Given the description of an element on the screen output the (x, y) to click on. 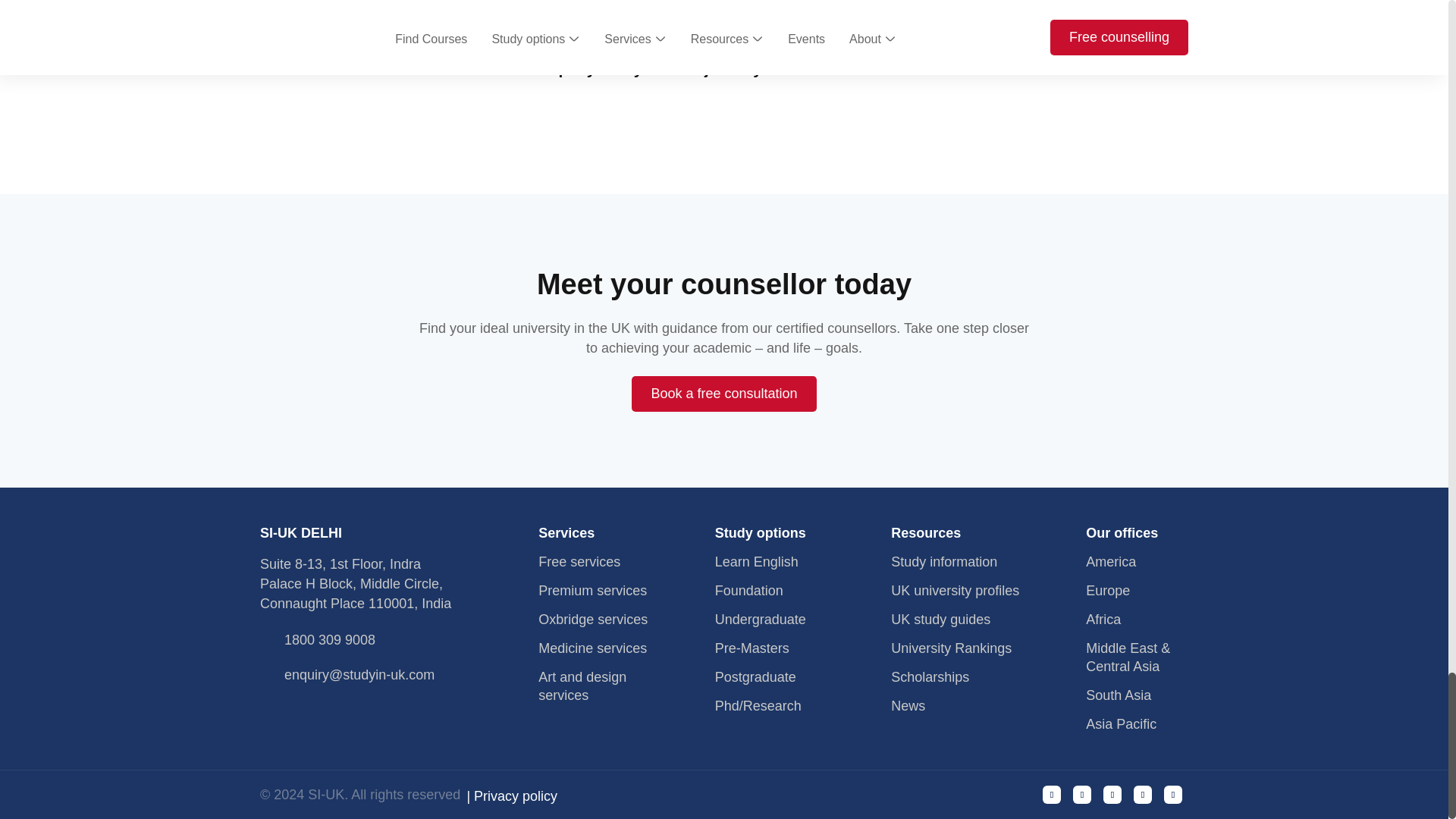
Follow on Youtube (1112, 794)
Follow on X (1142, 794)
Follow on Instagram (1081, 794)
Follow on Facebook (1051, 794)
Follow on LinkedIn (1172, 794)
